Given the description of an element on the screen output the (x, y) to click on. 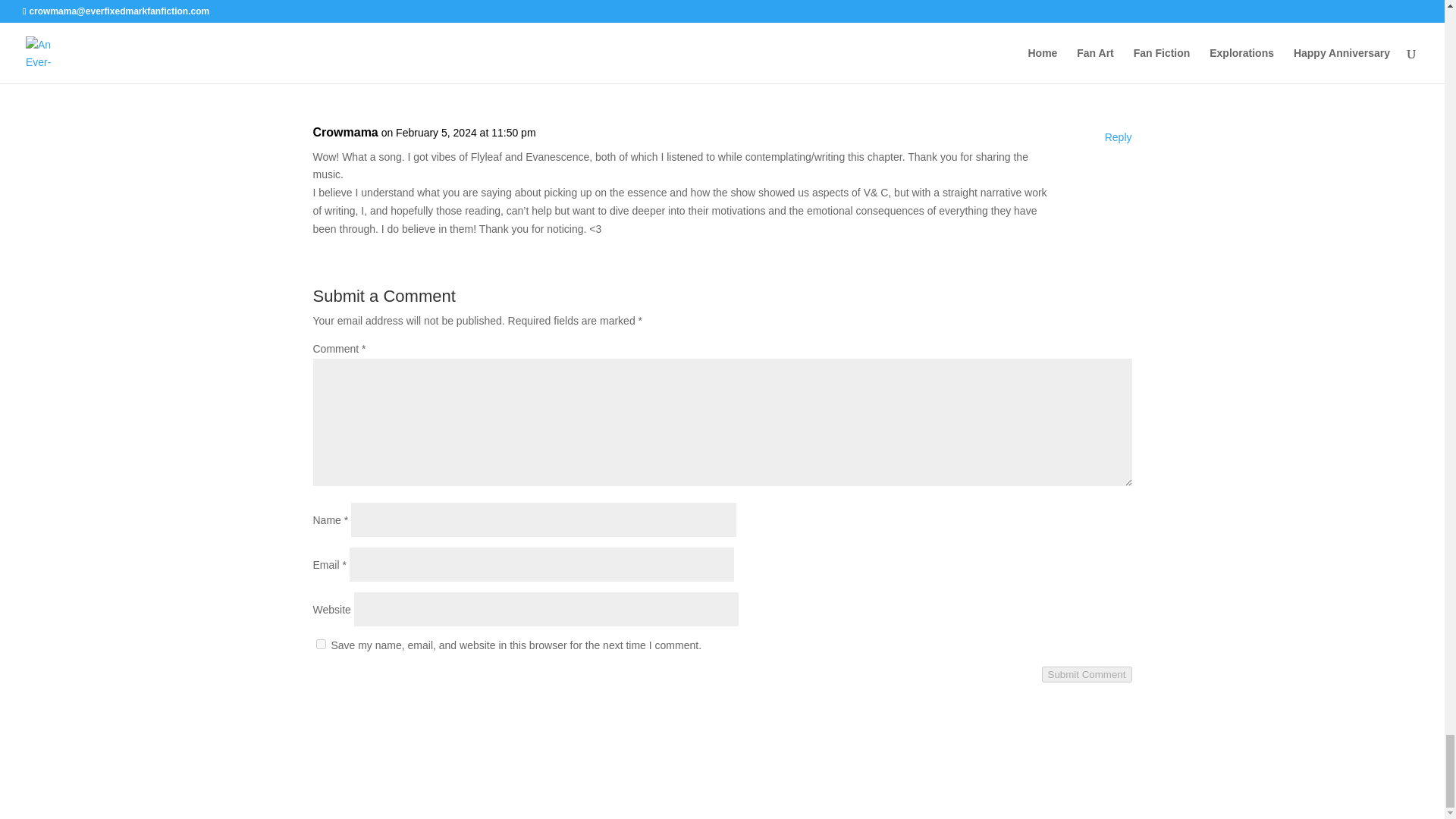
yes (319, 644)
Crowmama (345, 132)
Submit Comment (1087, 674)
Reply (1118, 6)
Reply (1118, 137)
